Given the description of an element on the screen output the (x, y) to click on. 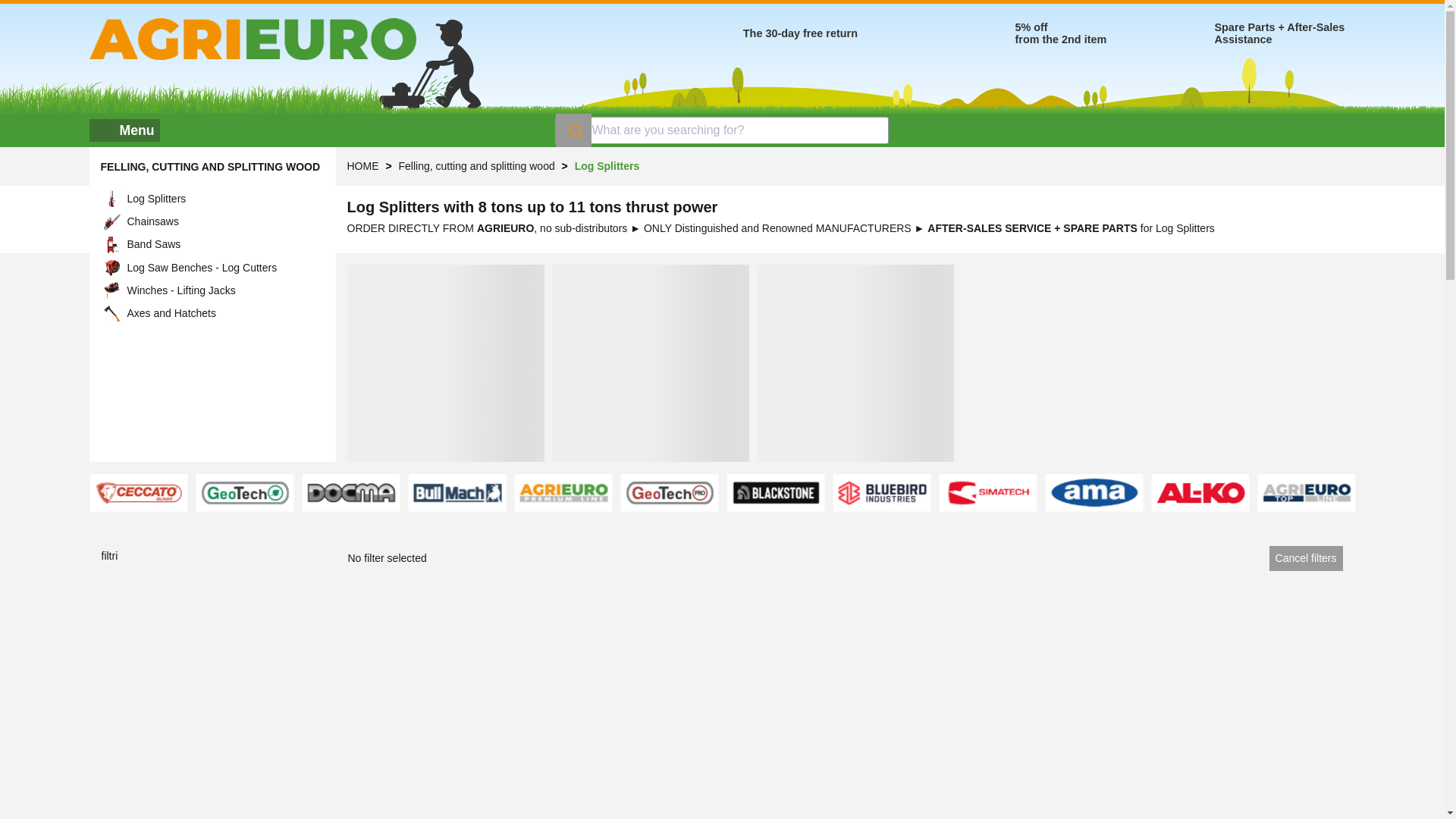
Axes and Hatchets (211, 313)
FELLING, CUTTING AND SPLITTING WOOD (210, 166)
Felling, cutting and splitting wood (477, 165)
Log Splitters (211, 198)
Cancel filters (1305, 558)
Chainsaws (211, 220)
Winches - Lifting Jacks (211, 290)
HOME (362, 165)
Felling, cutting and splitting wood (210, 166)
Band Saws (211, 244)
